Given the description of an element on the screen output the (x, y) to click on. 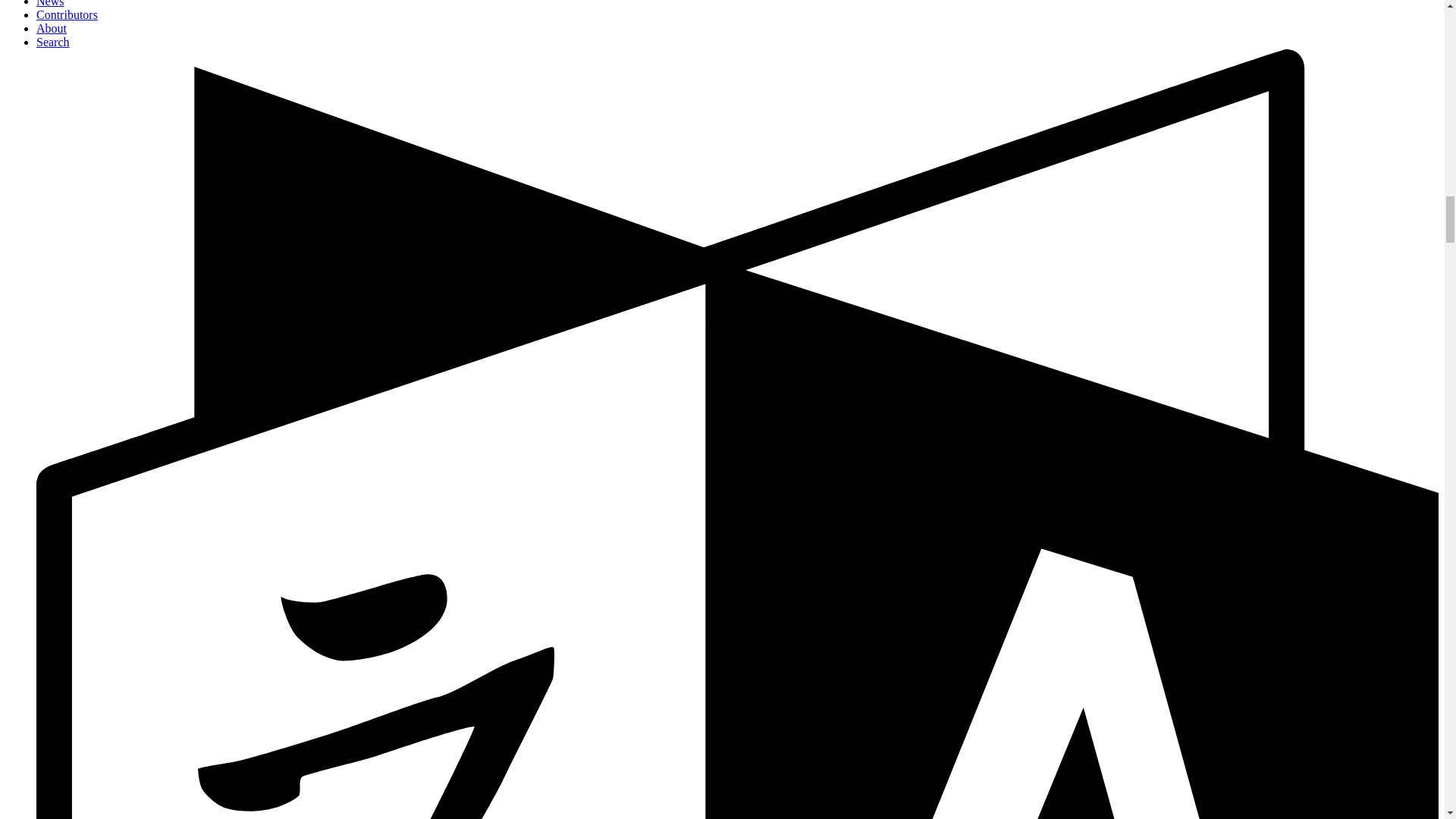
About (51, 28)
Search (52, 42)
Contributors (66, 14)
News (50, 3)
